Given the description of an element on the screen output the (x, y) to click on. 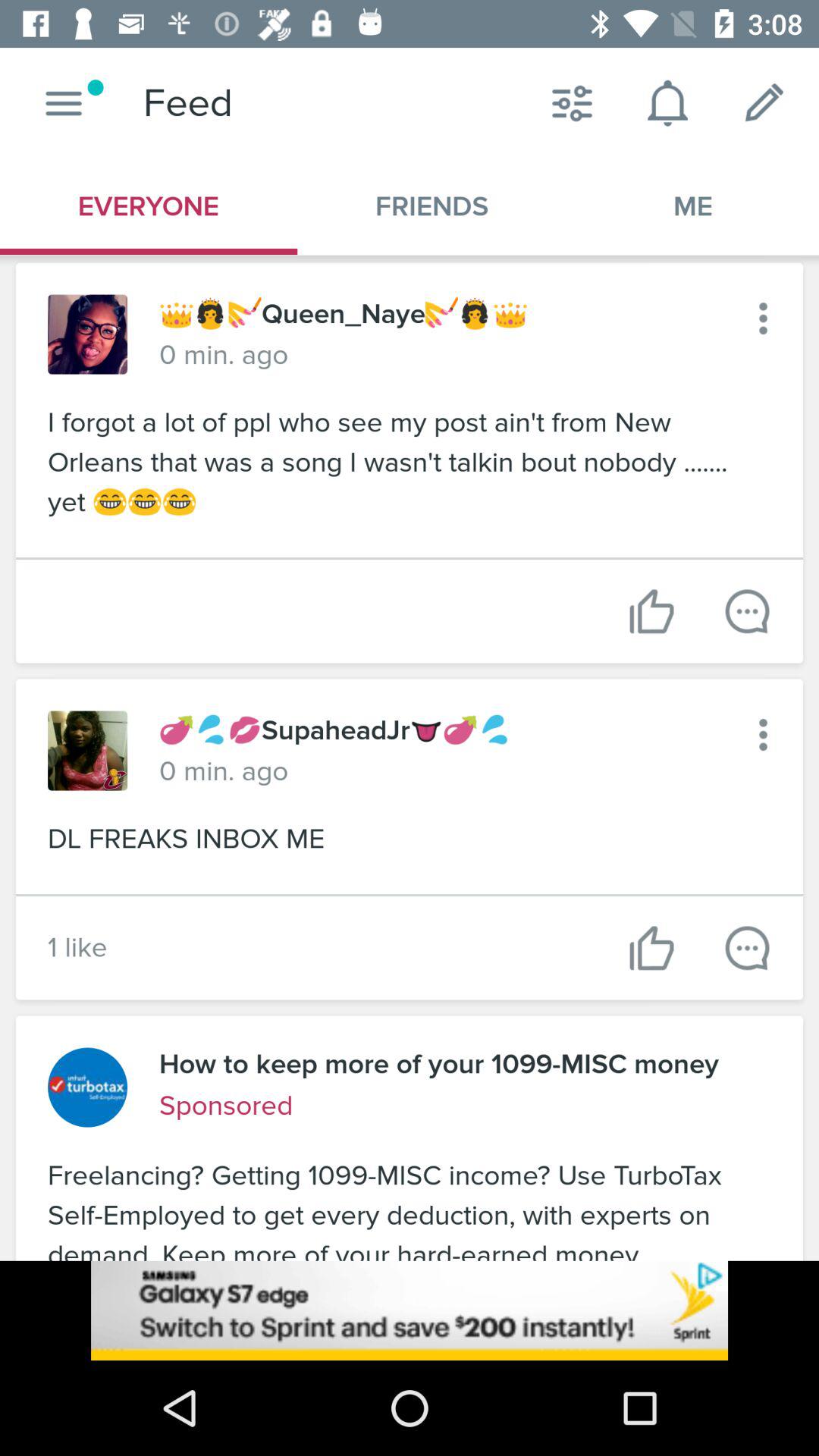
likes (651, 947)
